Given the description of an element on the screen output the (x, y) to click on. 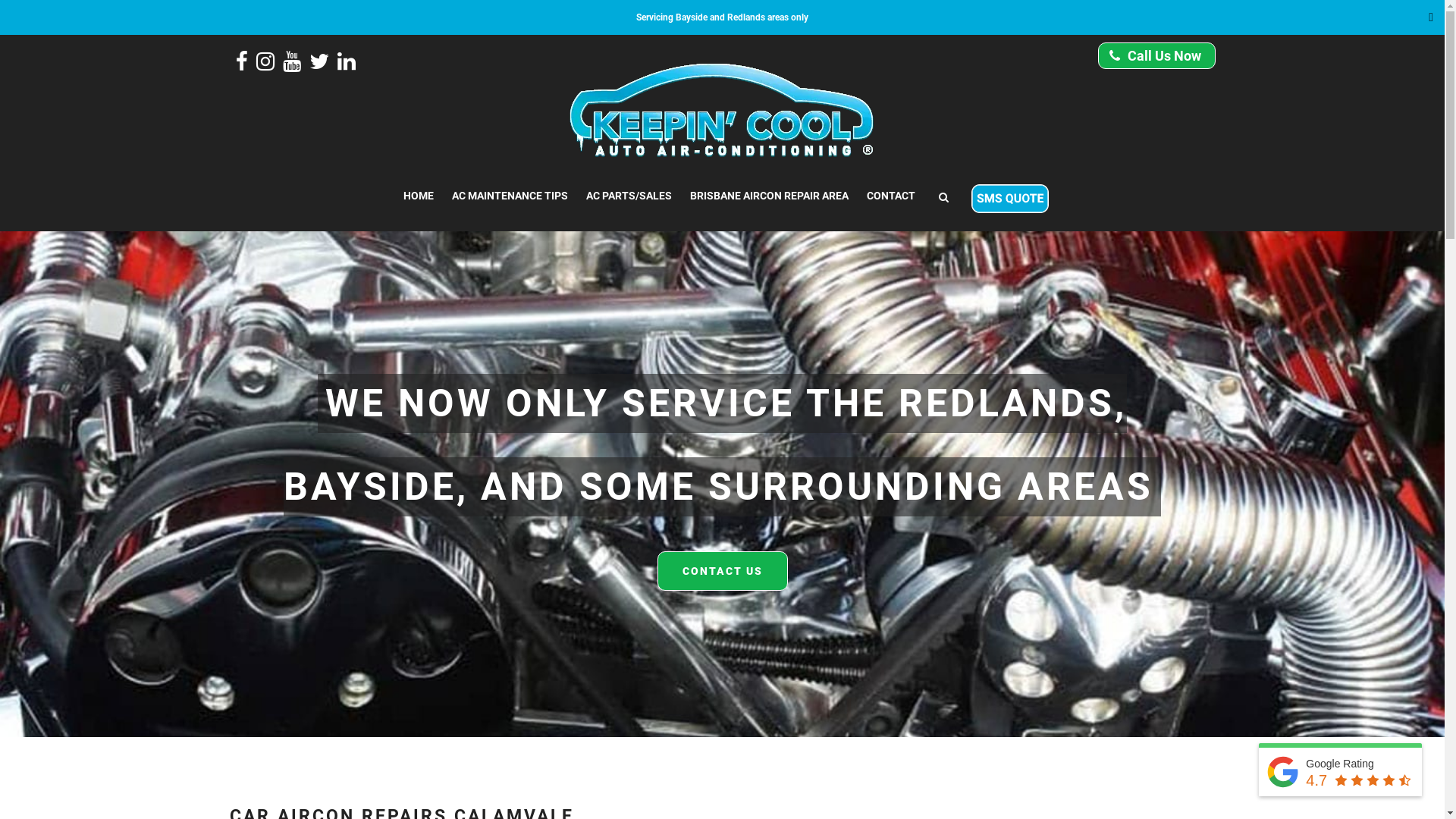
BRISBANE AIRCON REPAIR AREA Element type: text (768, 195)
AC PARTS/SALES Element type: text (628, 195)
Call Us Now Element type: text (1156, 55)
HOME Element type: text (418, 195)
Search Element type: text (1173, 34)
CONTACT Element type: text (889, 195)
CONTACT US Element type: text (721, 570)
AC MAINTENANCE TIPS Element type: text (509, 195)
